Given the description of an element on the screen output the (x, y) to click on. 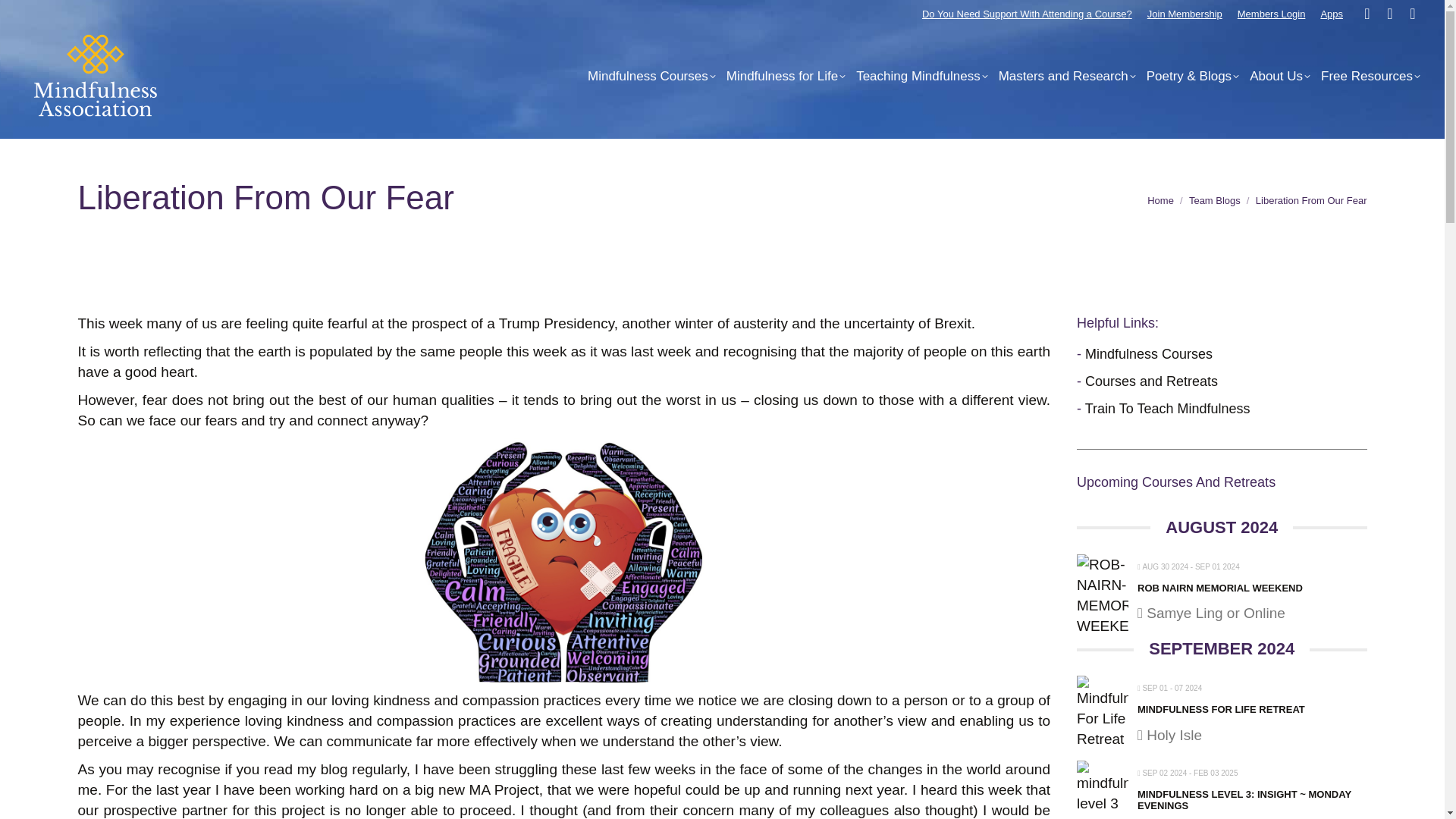
X page opens in new window (1389, 13)
Instagram page opens in new window (1412, 13)
Team Blogs (1214, 200)
Home (1160, 200)
Facebook page opens in new window (1366, 13)
Join Membership (1185, 12)
Do You Need Support With Attending a Course? (1026, 12)
Instagram page opens in new window (1412, 13)
Members Login (1271, 12)
X page opens in new window (1389, 13)
